Given the description of an element on the screen output the (x, y) to click on. 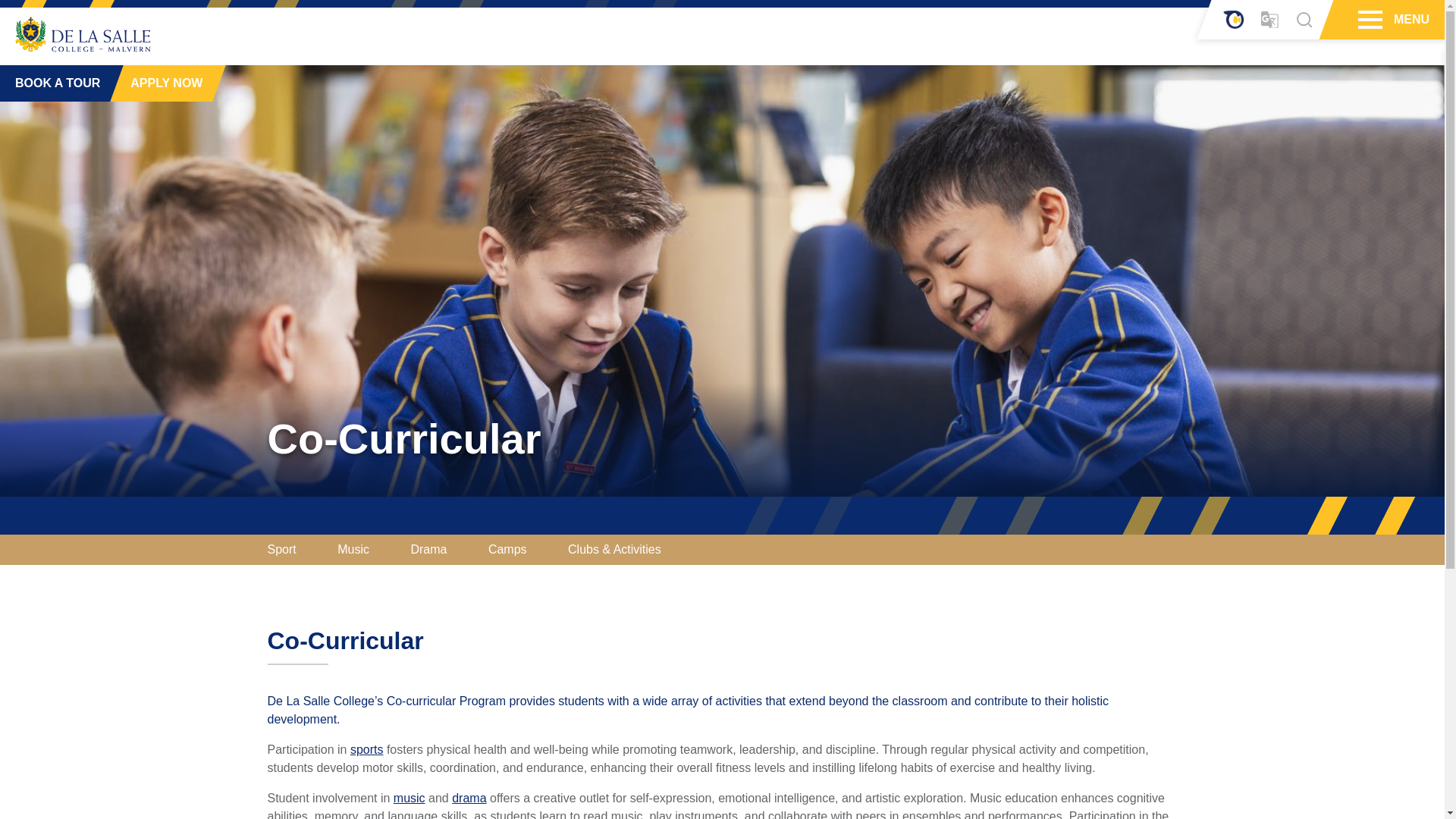
APPLY NOW (160, 83)
Skip to content (733, 59)
BOOK A TOUR (54, 83)
